Given the description of an element on the screen output the (x, y) to click on. 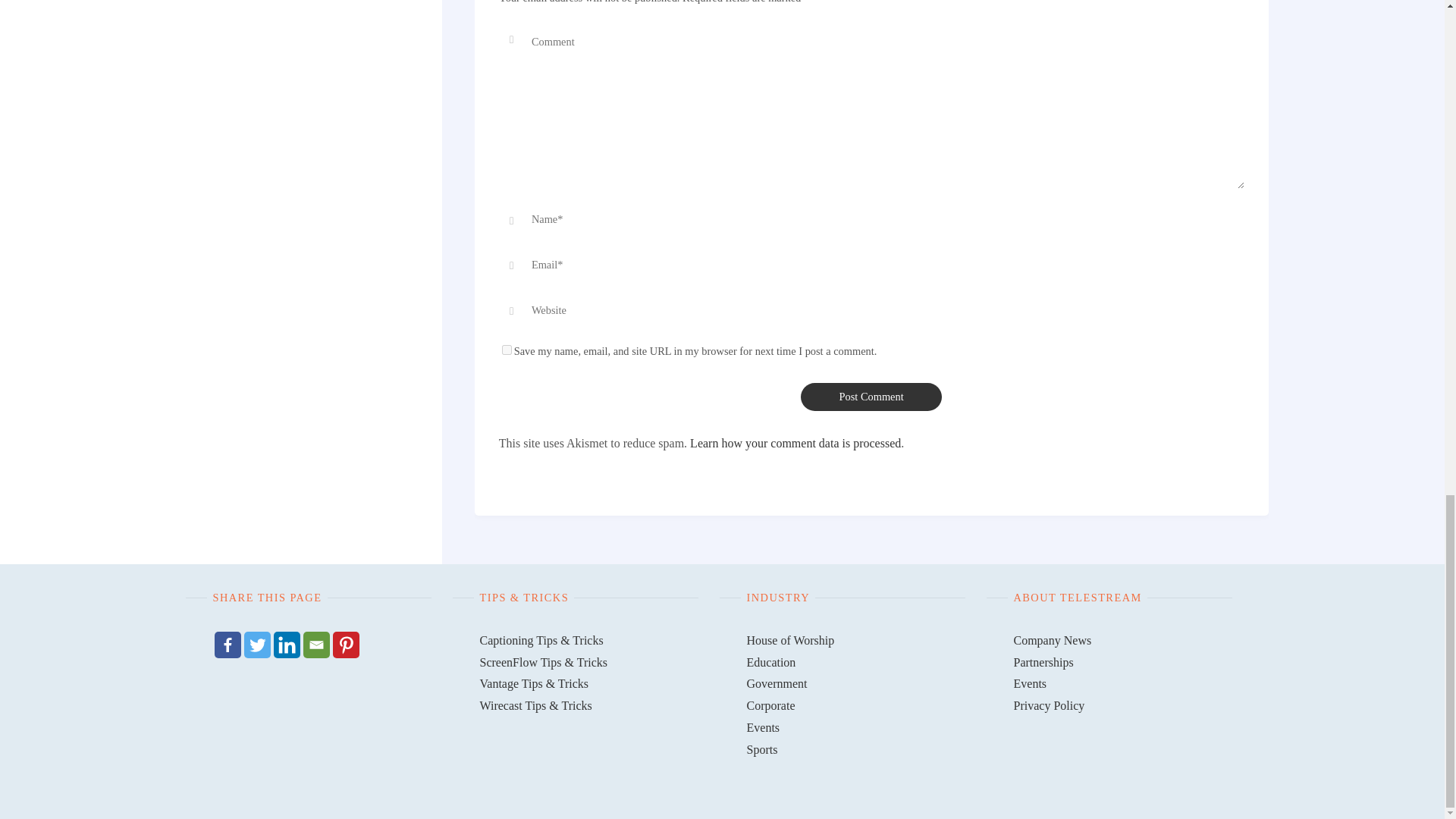
Post Comment (871, 397)
Linkedin (286, 644)
Pinterest (344, 644)
Email (316, 644)
yes (507, 349)
Twitter (257, 644)
Facebook (227, 644)
